Given the description of an element on the screen output the (x, y) to click on. 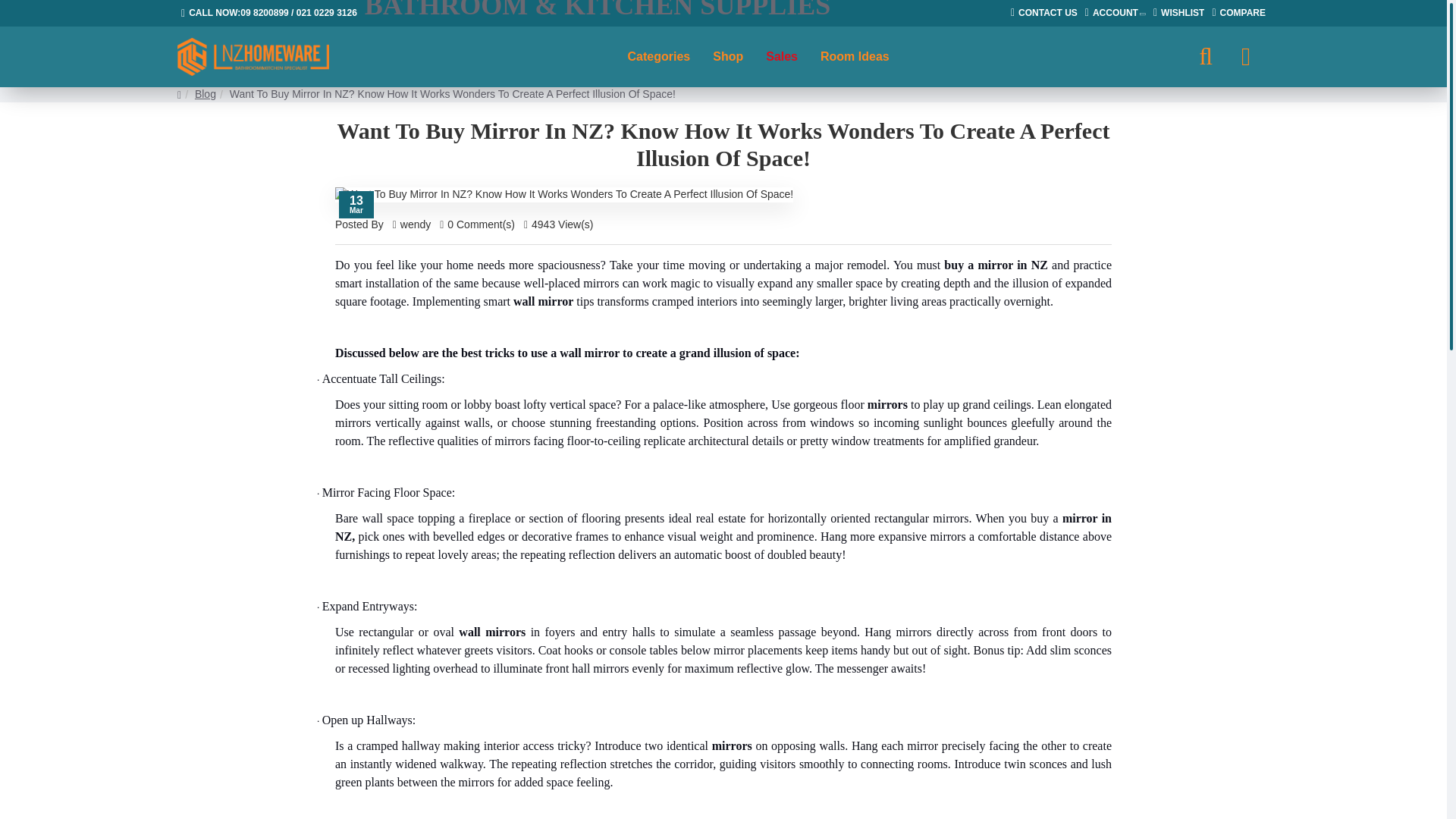
ACCOUNT (1115, 13)
CONTACT US (1044, 13)
Categories (658, 56)
COMPARE (1238, 13)
NZHomeware (253, 56)
WISHLIST (1179, 13)
